Given the description of an element on the screen output the (x, y) to click on. 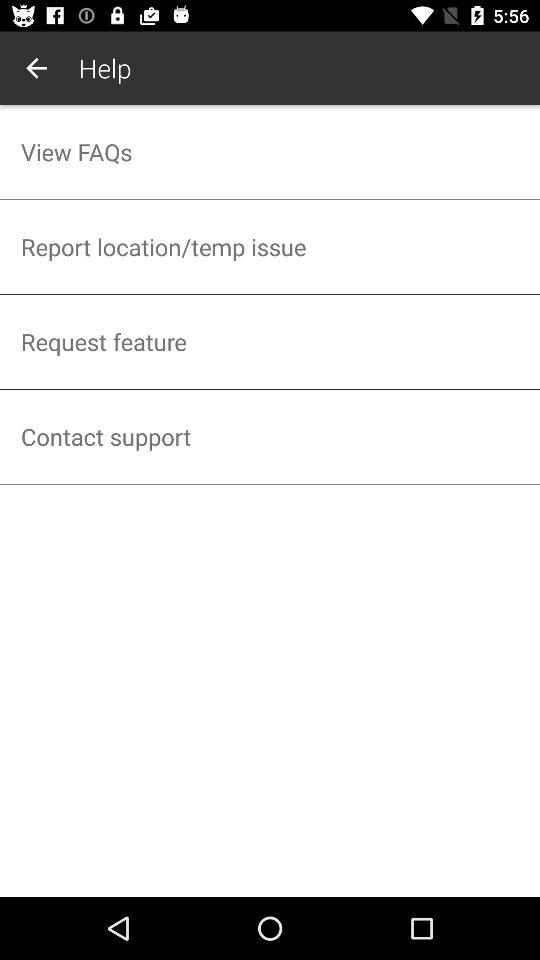
click the icon below report location temp (270, 341)
